Given the description of an element on the screen output the (x, y) to click on. 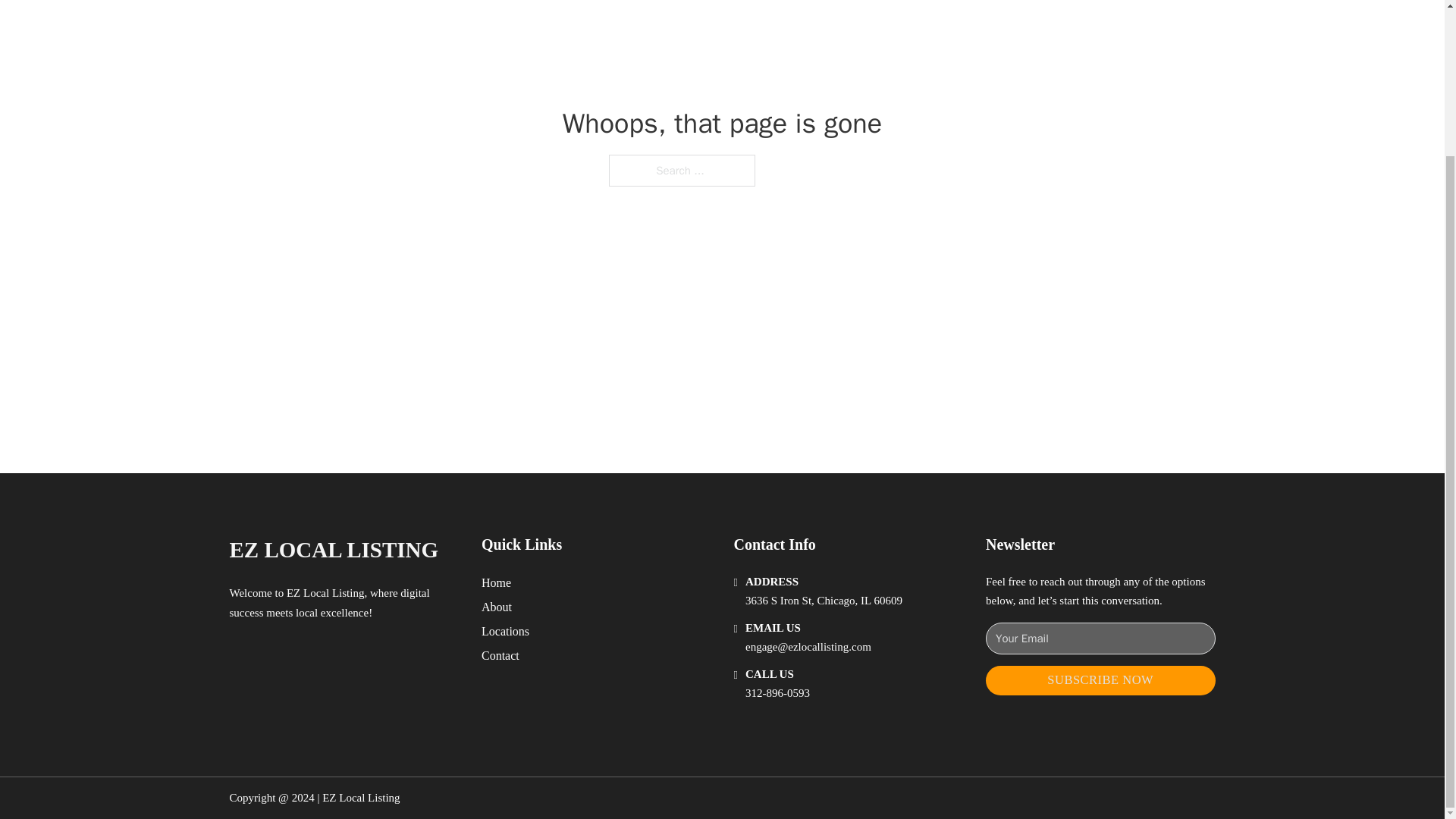
Home (496, 582)
Locations (505, 630)
312-896-0593 (777, 693)
EZ LOCAL LISTING (333, 549)
SUBSCRIBE NOW (1100, 680)
Contact (500, 655)
About (496, 607)
